Given the description of an element on the screen output the (x, y) to click on. 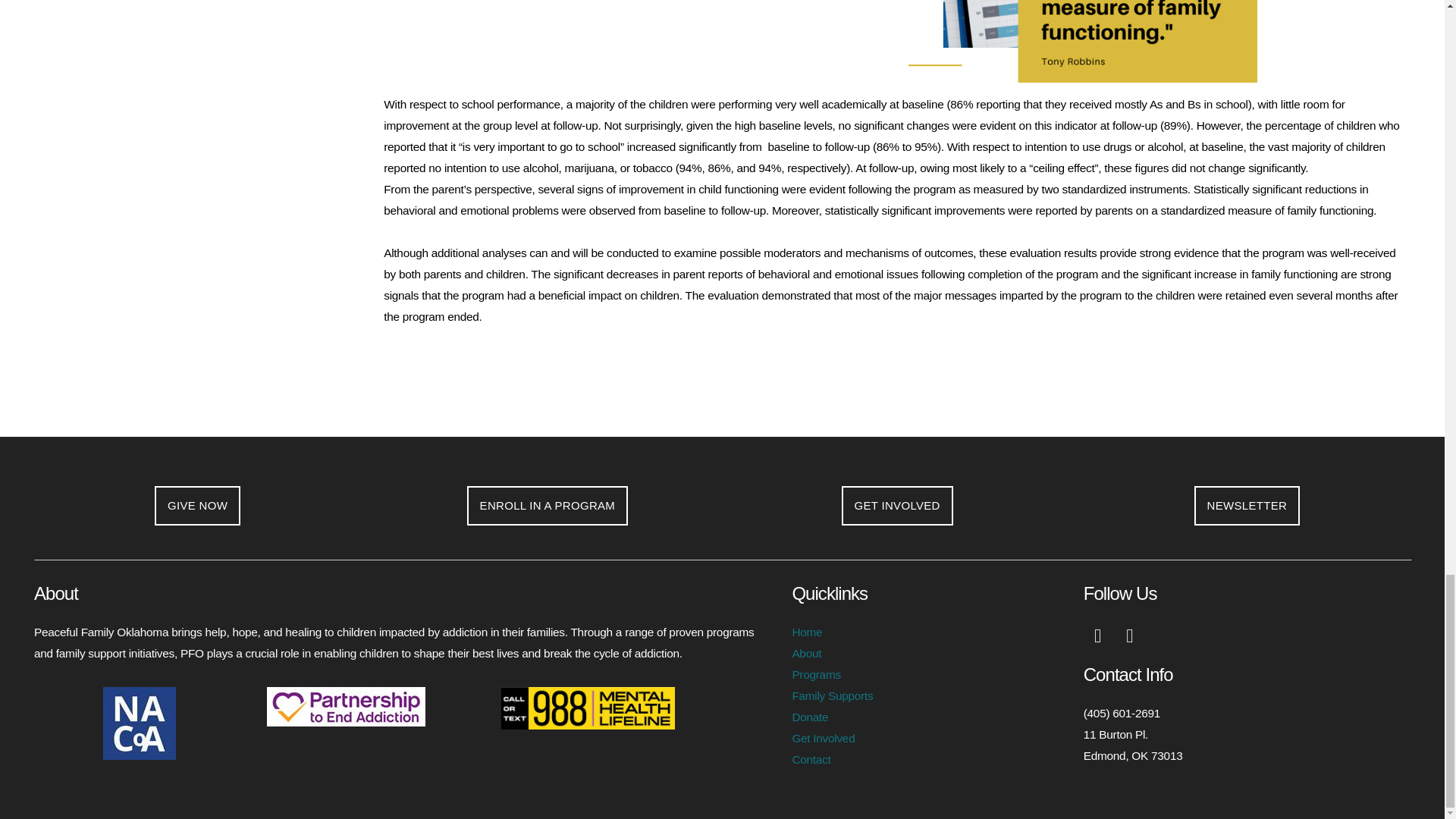
GIVE NOW (197, 505)
Home (807, 631)
NEWSLETTER (1246, 505)
ENROLL IN A PROGRAM (547, 505)
GET INVOLVED (897, 505)
